Given the description of an element on the screen output the (x, y) to click on. 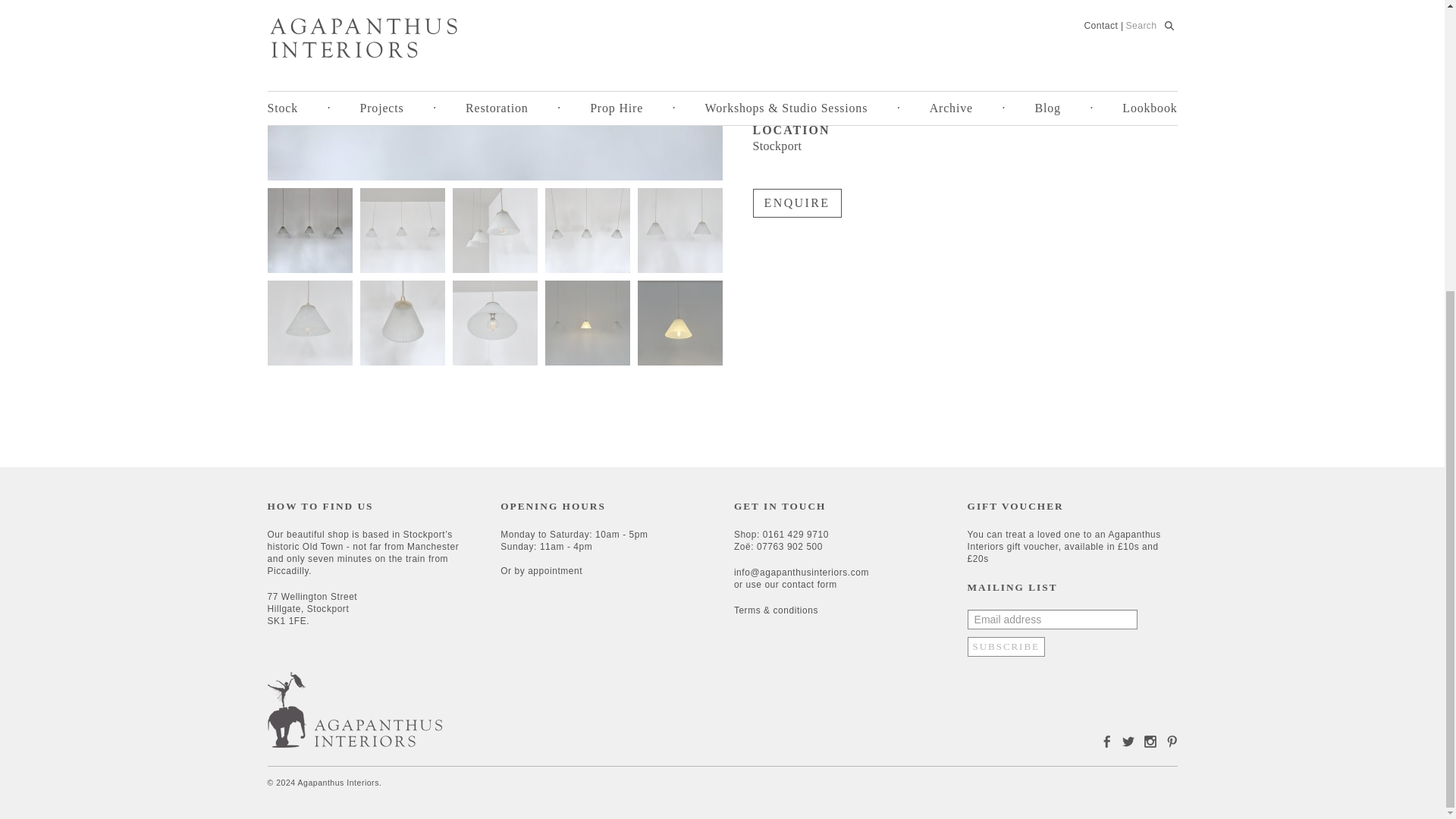
Pinterest (1167, 739)
Twitter (1124, 739)
Instagram (1146, 739)
ENQUIRE (796, 203)
Facebook (1102, 739)
contact form (809, 584)
Subscribe (1006, 646)
07763 902 500 (789, 546)
0161 429 9710 (795, 534)
Subscribe (1006, 646)
